Given the description of an element on the screen output the (x, y) to click on. 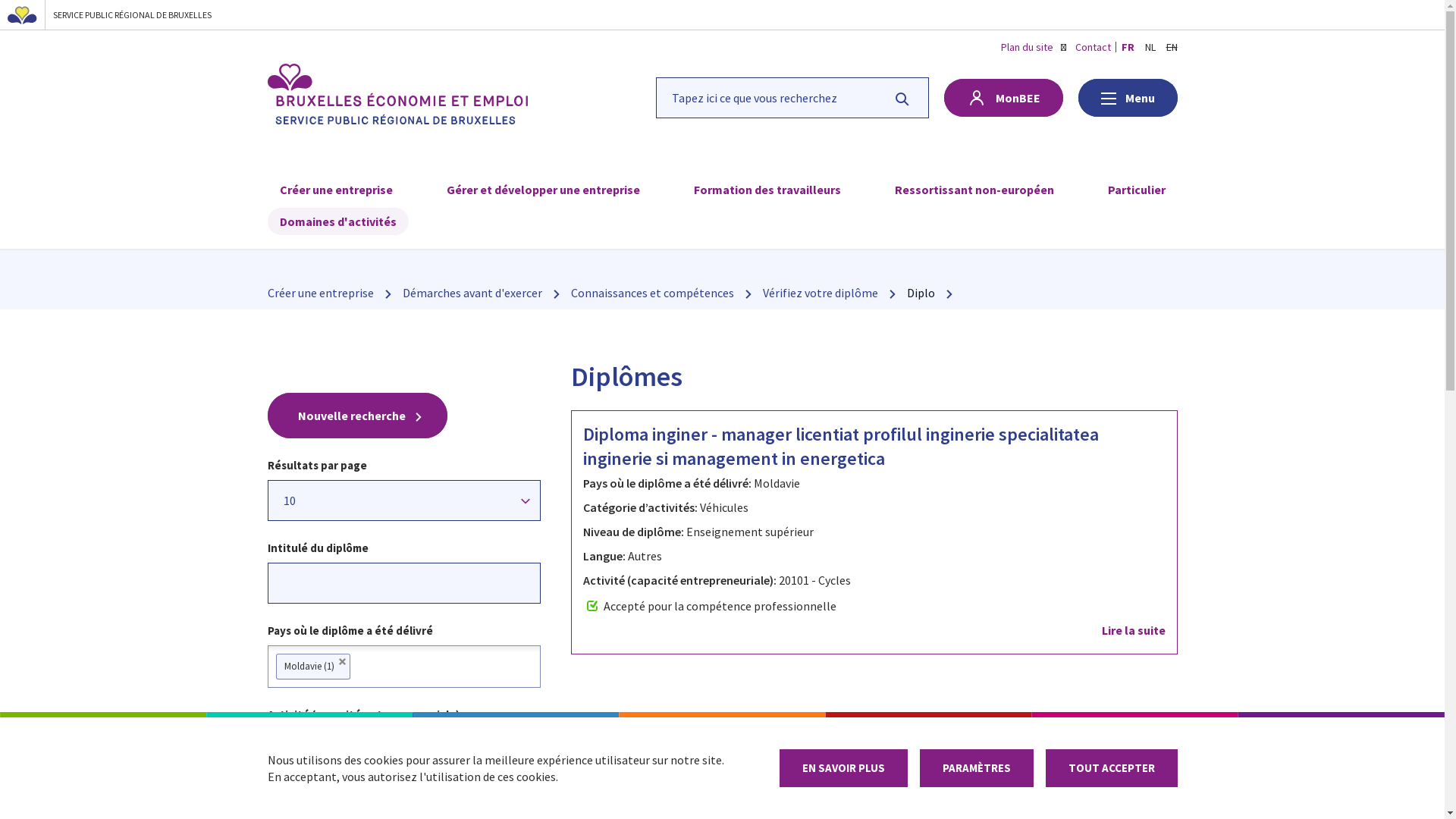
Rechercher Element type: hover (791, 97)
TOUT ACCEPTER Element type: text (1110, 768)
Rechercher Element type: text (901, 97)
Aller au contenu principal Element type: text (0, 0)
Submit Element type: text (25, 14)
Lire la suite Element type: text (873, 630)
MonBEE Element type: text (1002, 97)
Contact Element type: text (1092, 46)
FR Element type: text (1126, 46)
Formation des travailleurs Element type: text (766, 189)
Plan du site Element type: text (1027, 46)
Particulier Element type: text (1135, 189)
Menu Element type: text (1127, 97)
Diplo Element type: text (920, 294)
Chercher Element type: text (61, 22)
NL Element type: text (1150, 46)
Nouvelle recherche Element type: text (356, 415)
EN SAVOIR PLUS Element type: text (843, 768)
